Given the description of an element on the screen output the (x, y) to click on. 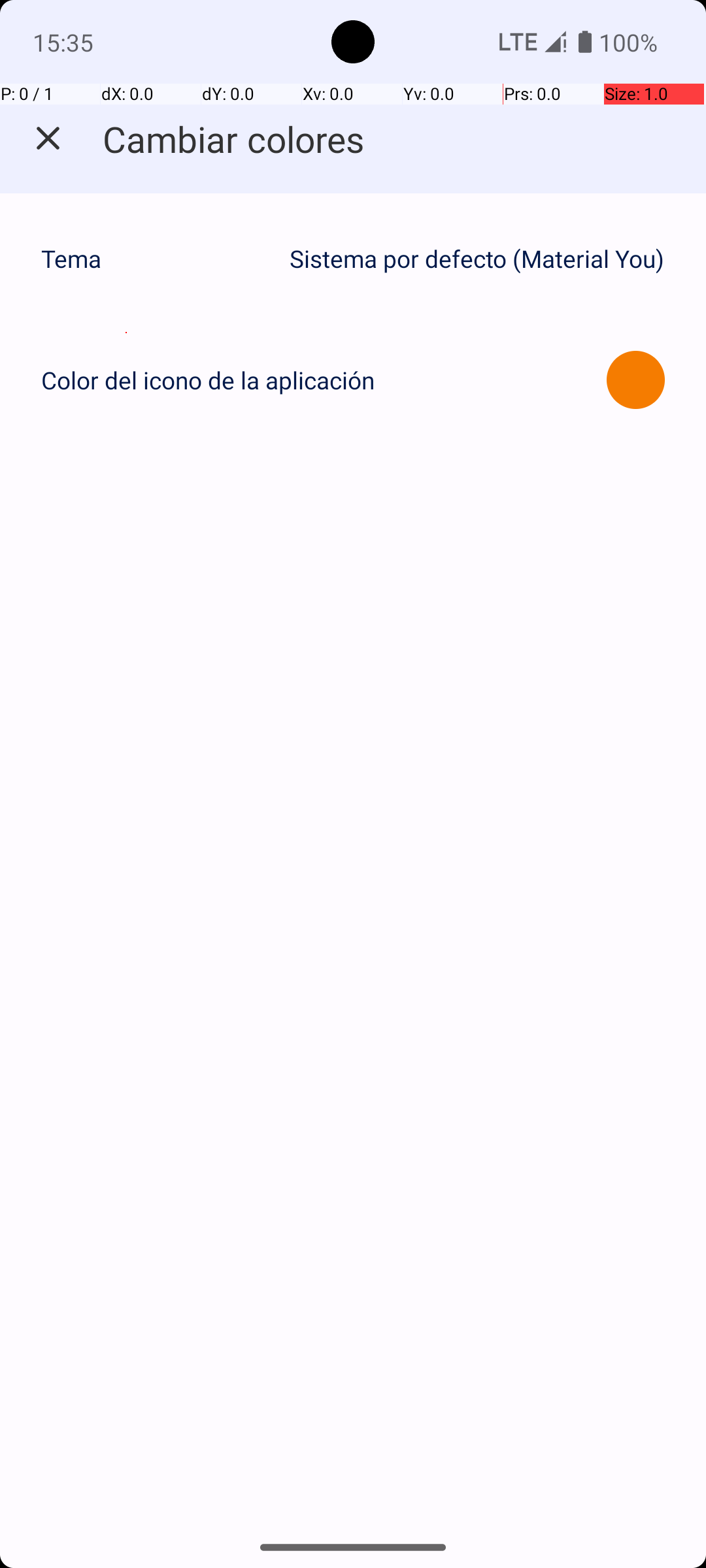
Cerrar Element type: android.widget.ImageButton (48, 138)
Tema Element type: android.widget.TextView (158, 258)
Sistema por defecto (Material You) Element type: android.widget.TextView (476, 258)
Color del icono de la aplicación Element type: android.widget.TextView (207, 379)
